Given the description of an element on the screen output the (x, y) to click on. 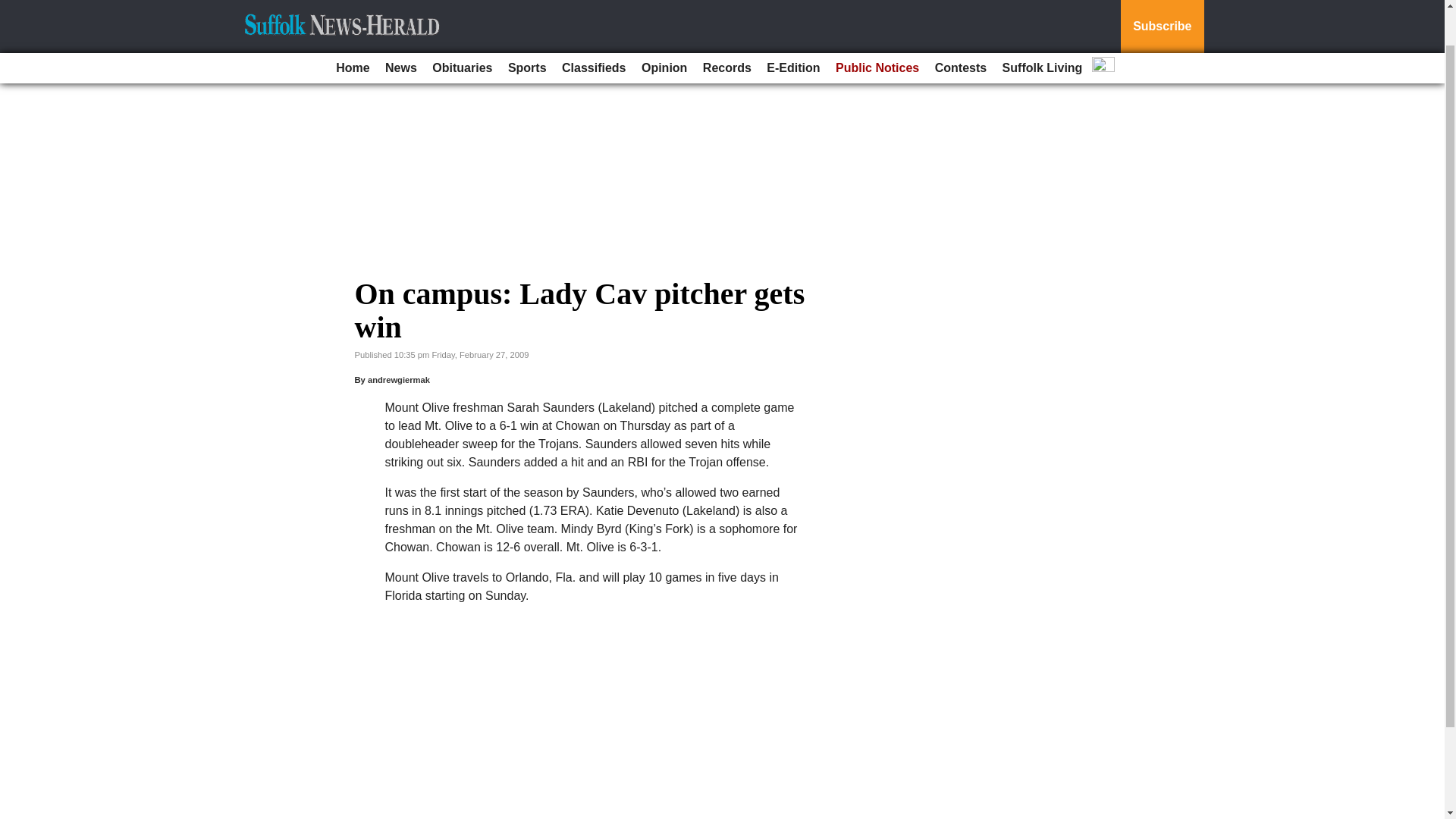
Opinion (663, 26)
Obituaries (461, 26)
E-Edition (792, 26)
Suffolk Living (1042, 26)
Records (727, 26)
Public Notices (876, 26)
Home (352, 26)
andrewgiermak (398, 379)
Sports (527, 26)
Contests (960, 26)
